Given the description of an element on the screen output the (x, y) to click on. 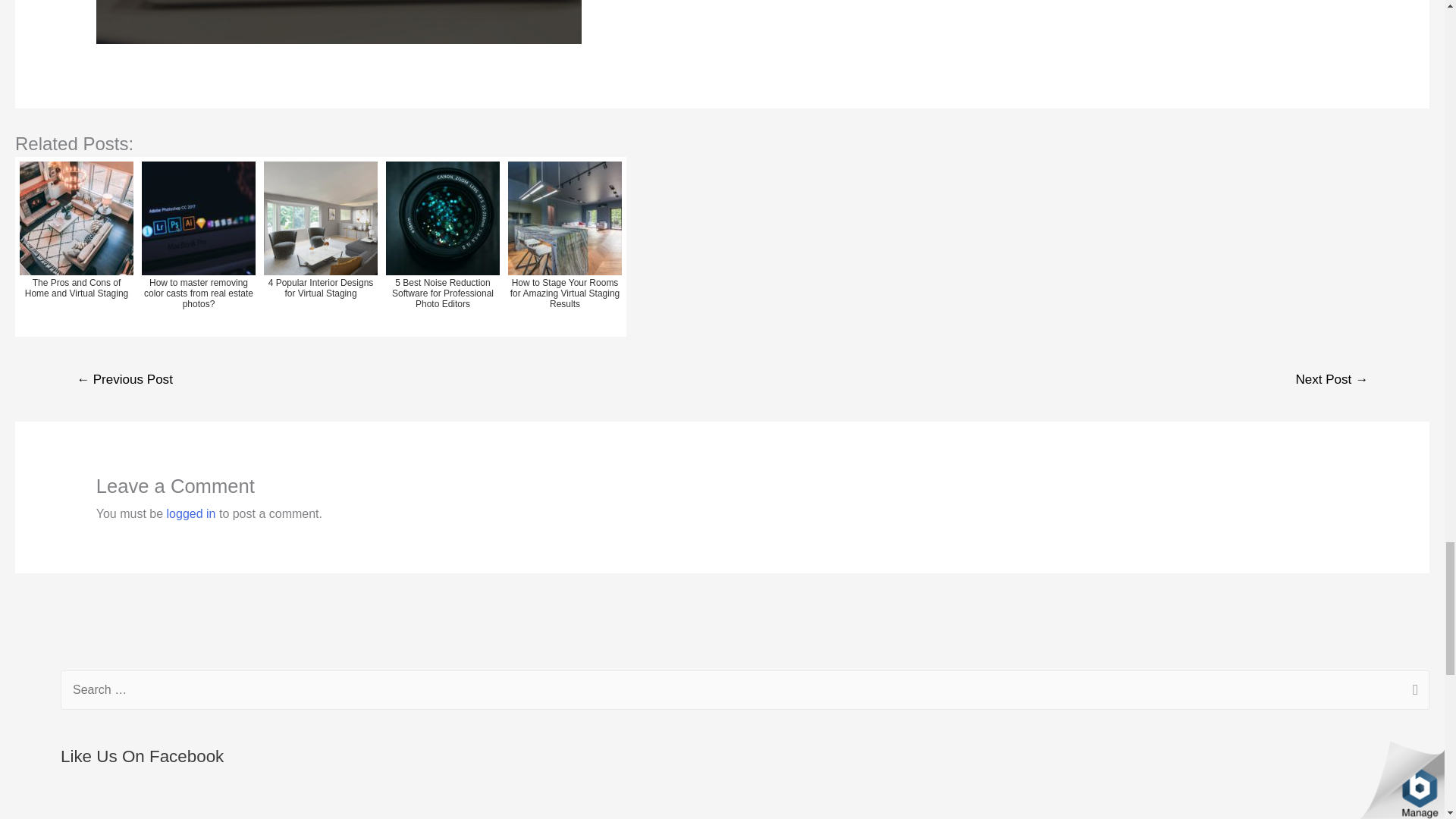
logged in (191, 513)
